Given the description of an element on the screen output the (x, y) to click on. 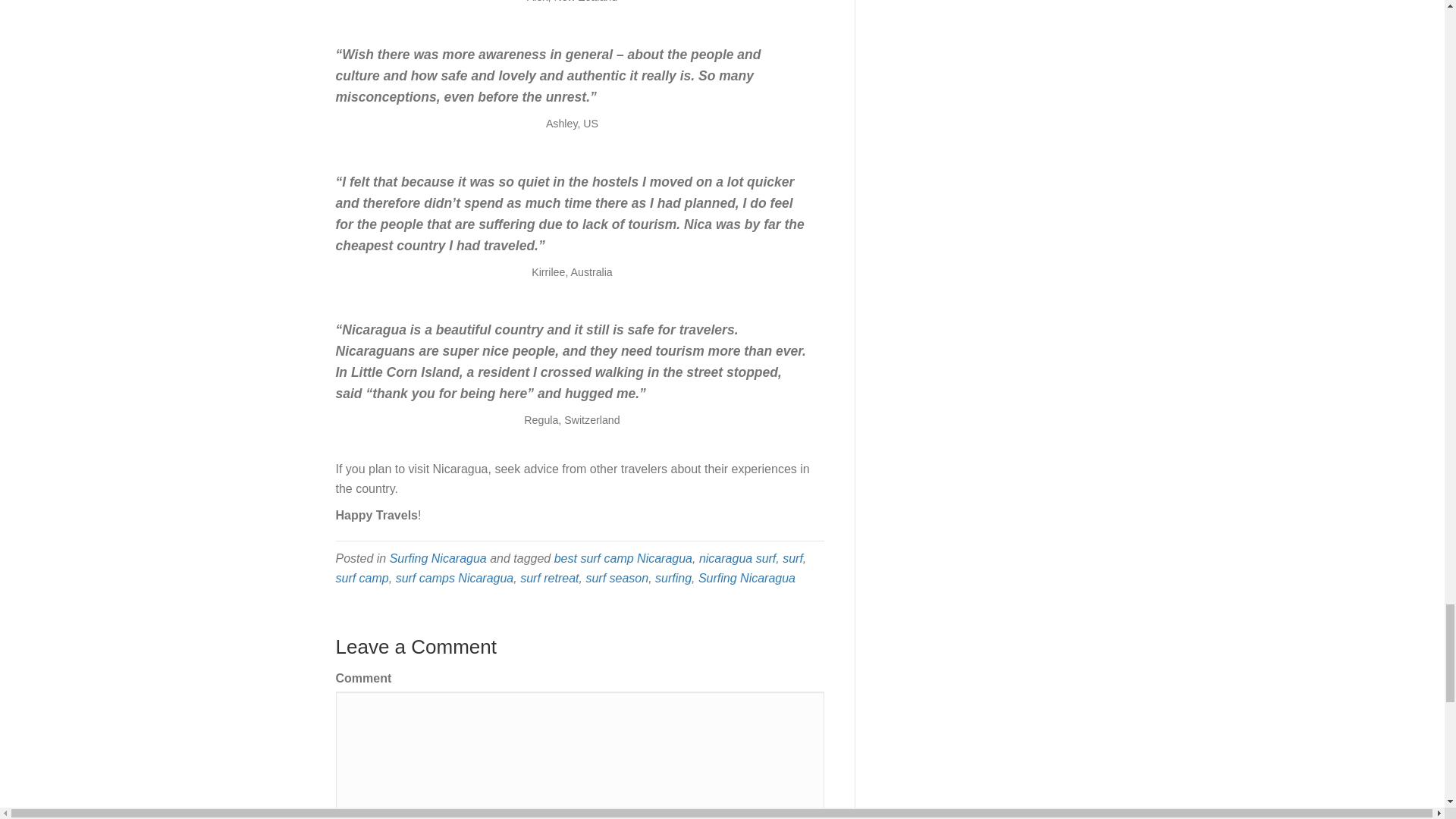
surf camps Nicaragua (454, 577)
surf retreat (548, 577)
surf (793, 558)
best surf camp Nicaragua (623, 558)
surf season (616, 577)
Surfing Nicaragua (746, 577)
surf camp (361, 577)
Surfing Nicaragua (438, 558)
nicaragua surf (737, 558)
surfing (673, 577)
